Given the description of an element on the screen output the (x, y) to click on. 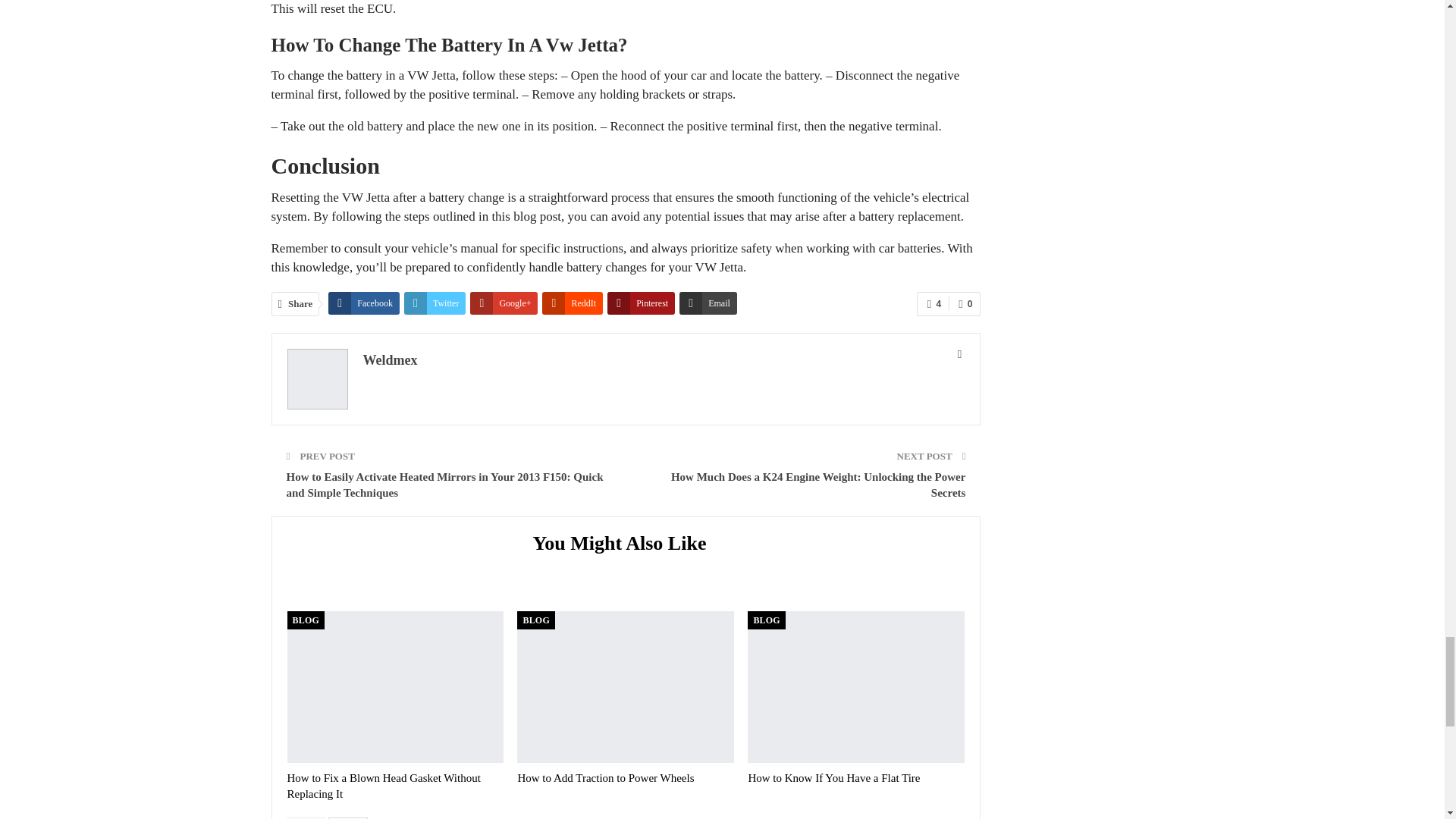
BLOG (304, 619)
Pinterest (641, 302)
Email (707, 302)
How to Fix a Blown Head Gasket Without Replacing It (383, 786)
BLOG (535, 619)
Facebook (363, 302)
Twitter (434, 302)
How to Add Traction to Power Wheels (624, 686)
How to Know If You Have a Flat Tire (834, 777)
How to Add Traction to Power Wheels (605, 777)
